Given the description of an element on the screen output the (x, y) to click on. 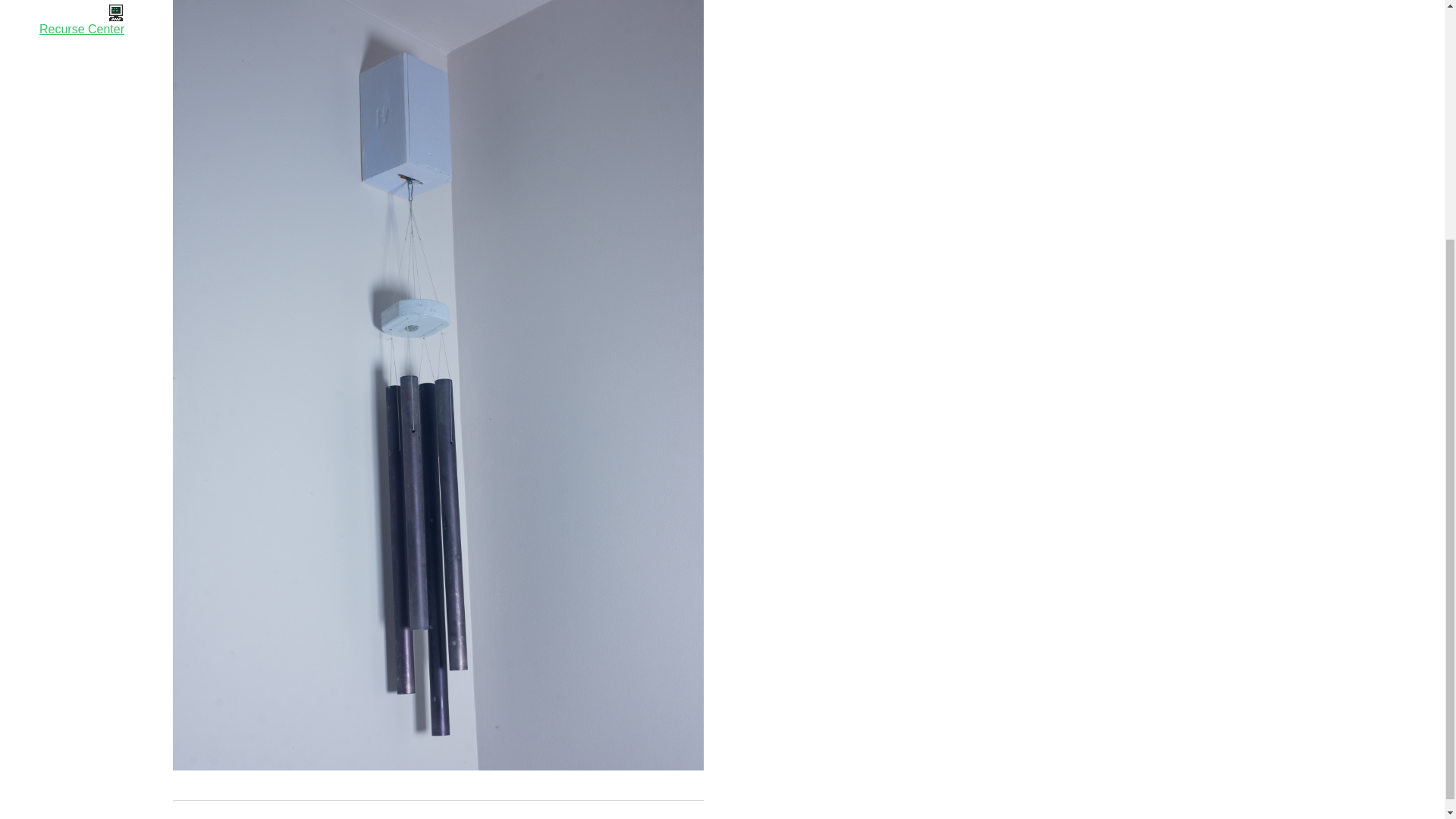
Recurse Center (64, 21)
